Given the description of an element on the screen output the (x, y) to click on. 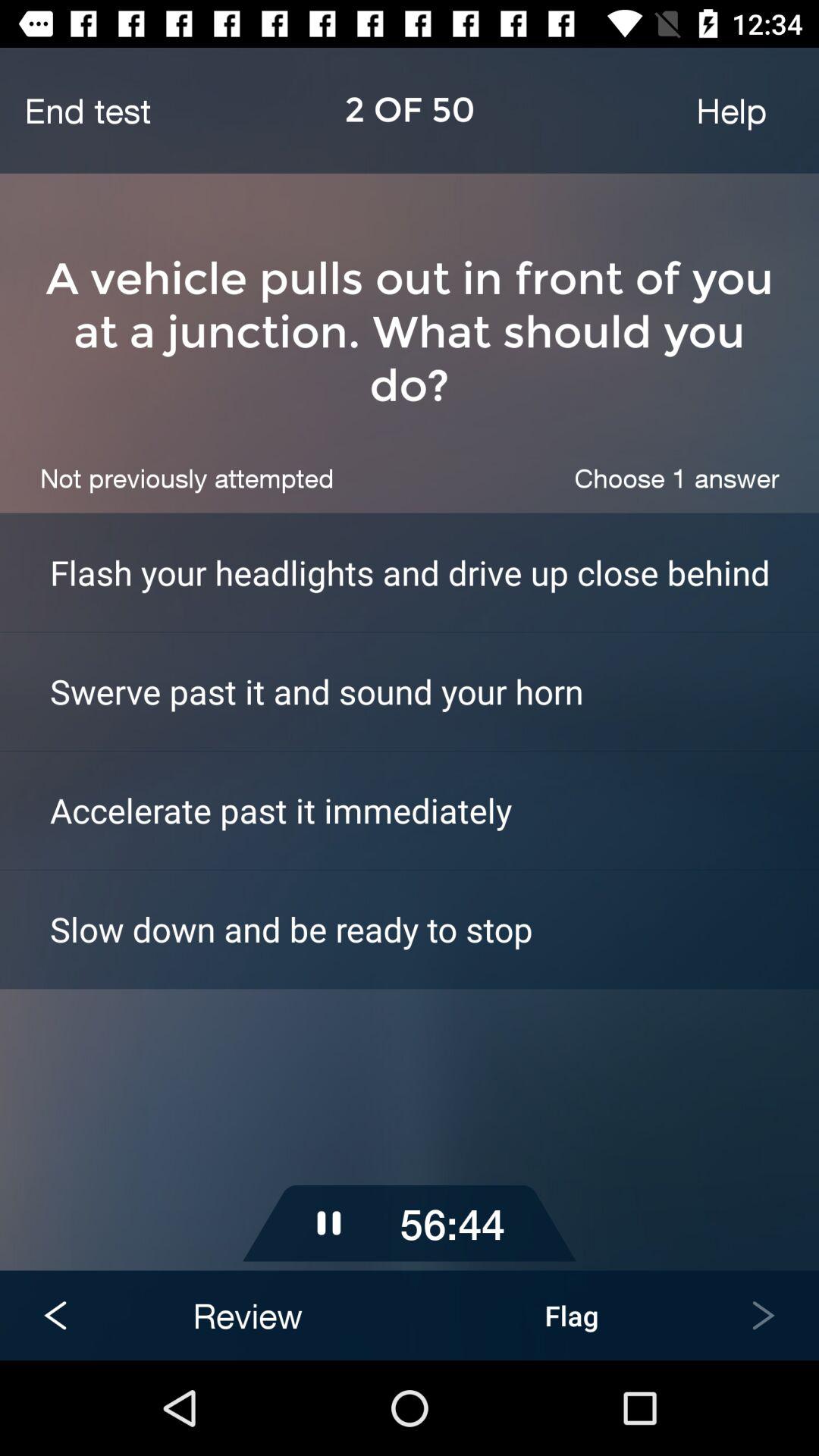
click the icon to the right of the review (571, 1315)
